Given the description of an element on the screen output the (x, y) to click on. 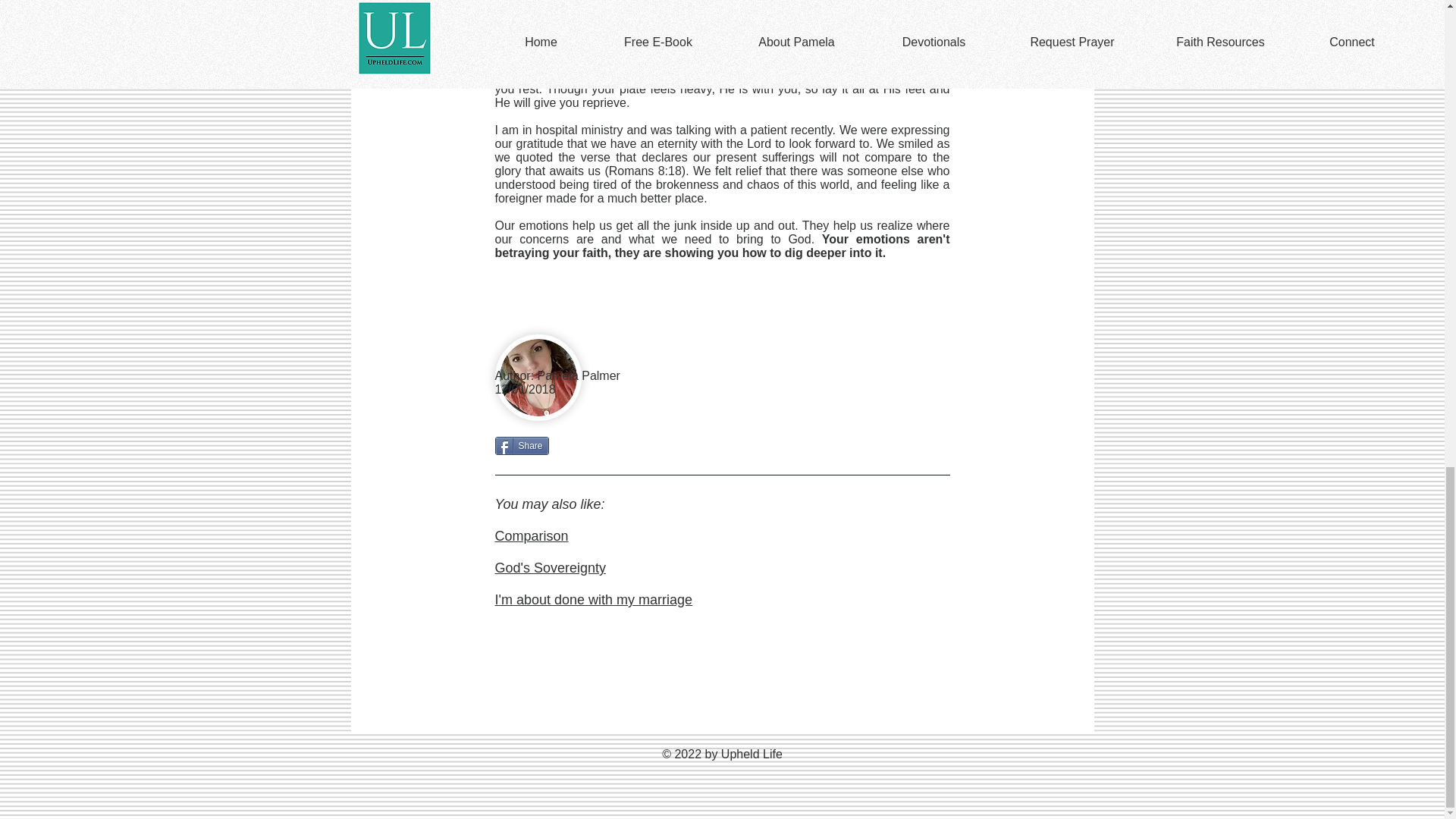
Share (521, 445)
God's Sovereignty (550, 567)
I'm about done with my marriage (594, 599)
Share (521, 445)
Comparison (531, 535)
